Given the description of an element on the screen output the (x, y) to click on. 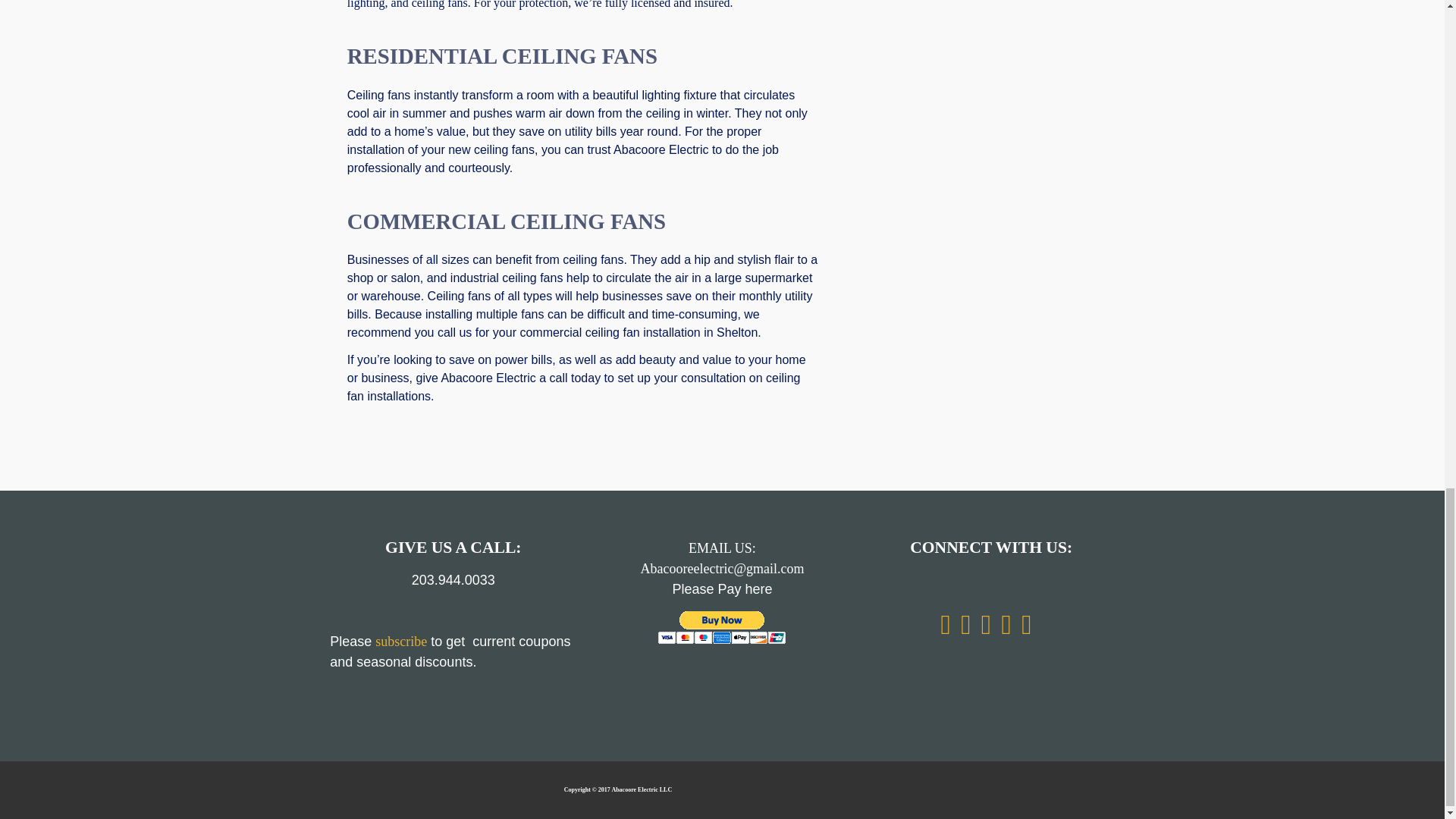
subscribe (400, 641)
